Given the description of an element on the screen output the (x, y) to click on. 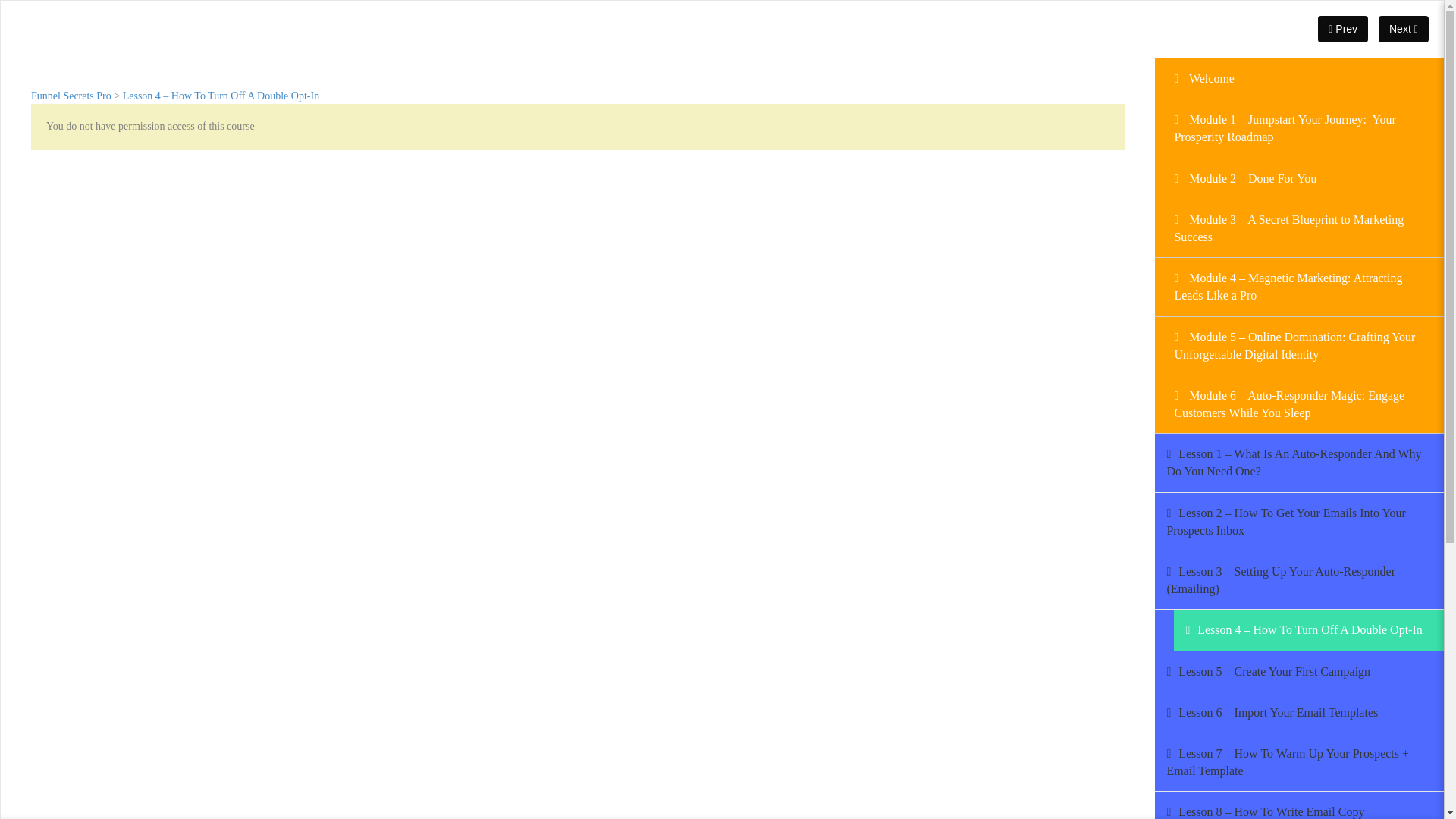
Next (1403, 28)
Prev (1342, 28)
Funnel Secrets Pro (71, 95)
